Given the description of an element on the screen output the (x, y) to click on. 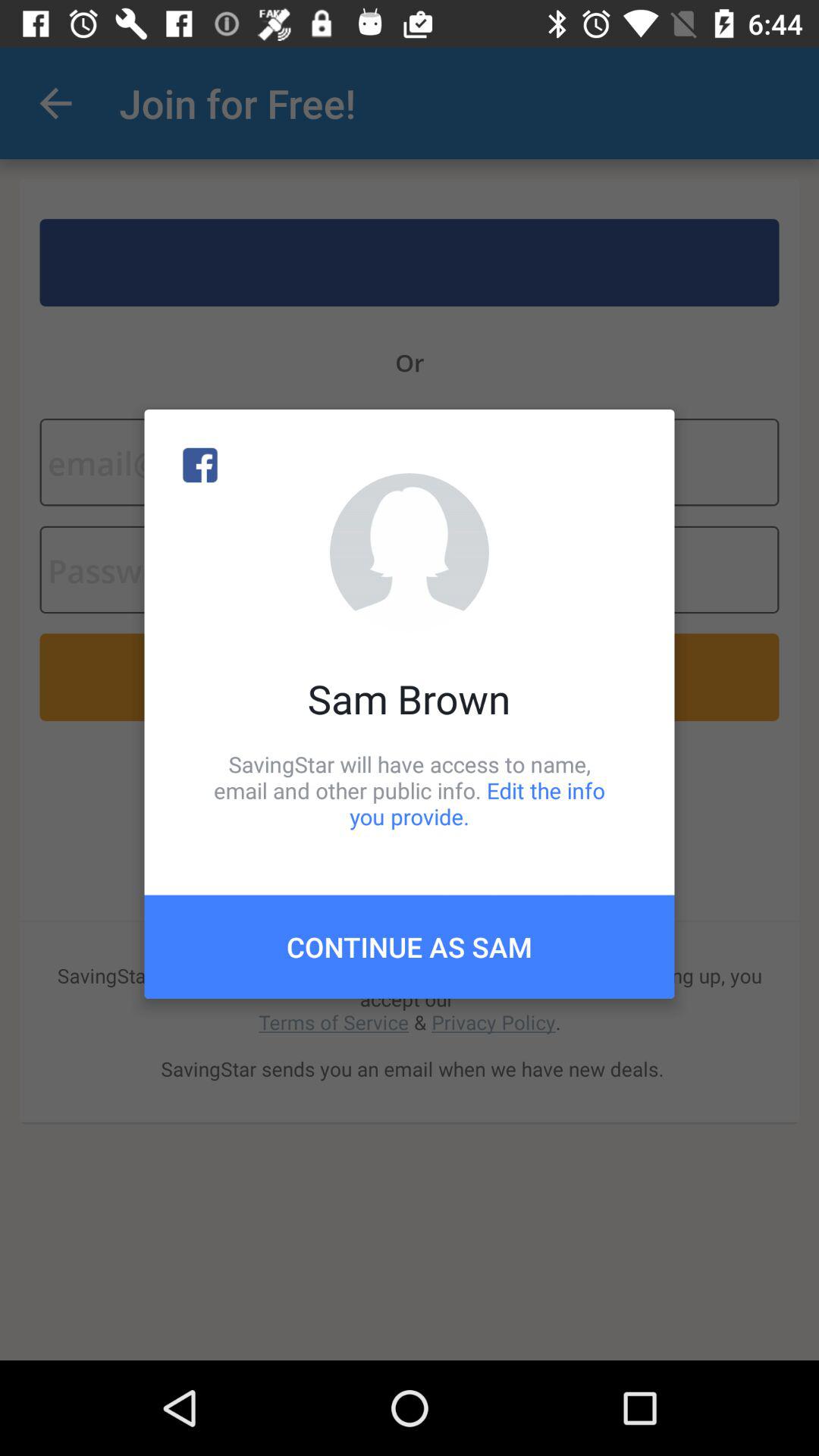
select the item below the savingstar will have item (409, 946)
